Given the description of an element on the screen output the (x, y) to click on. 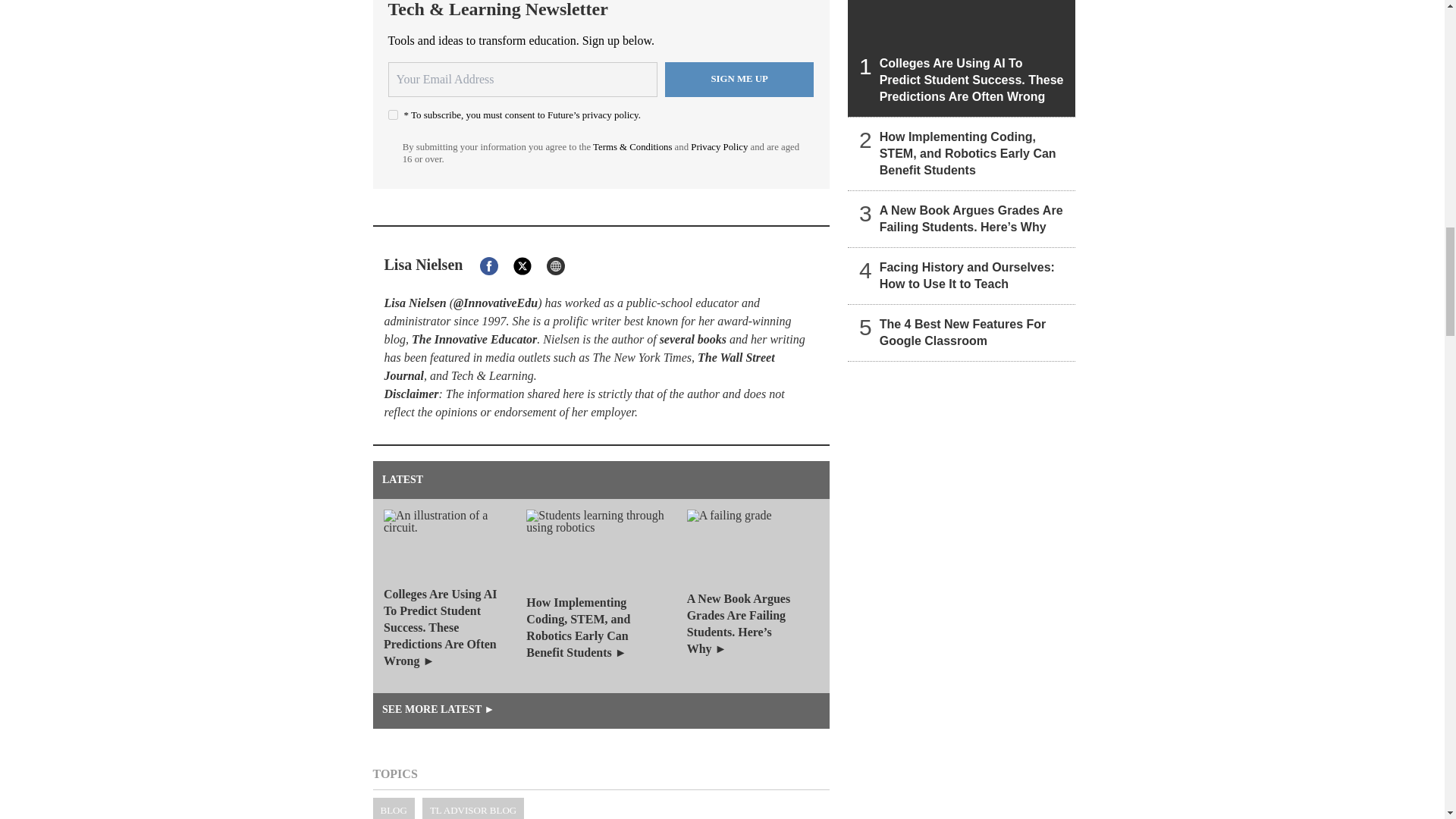
on (392, 114)
Sign me up (739, 79)
